Given the description of an element on the screen output the (x, y) to click on. 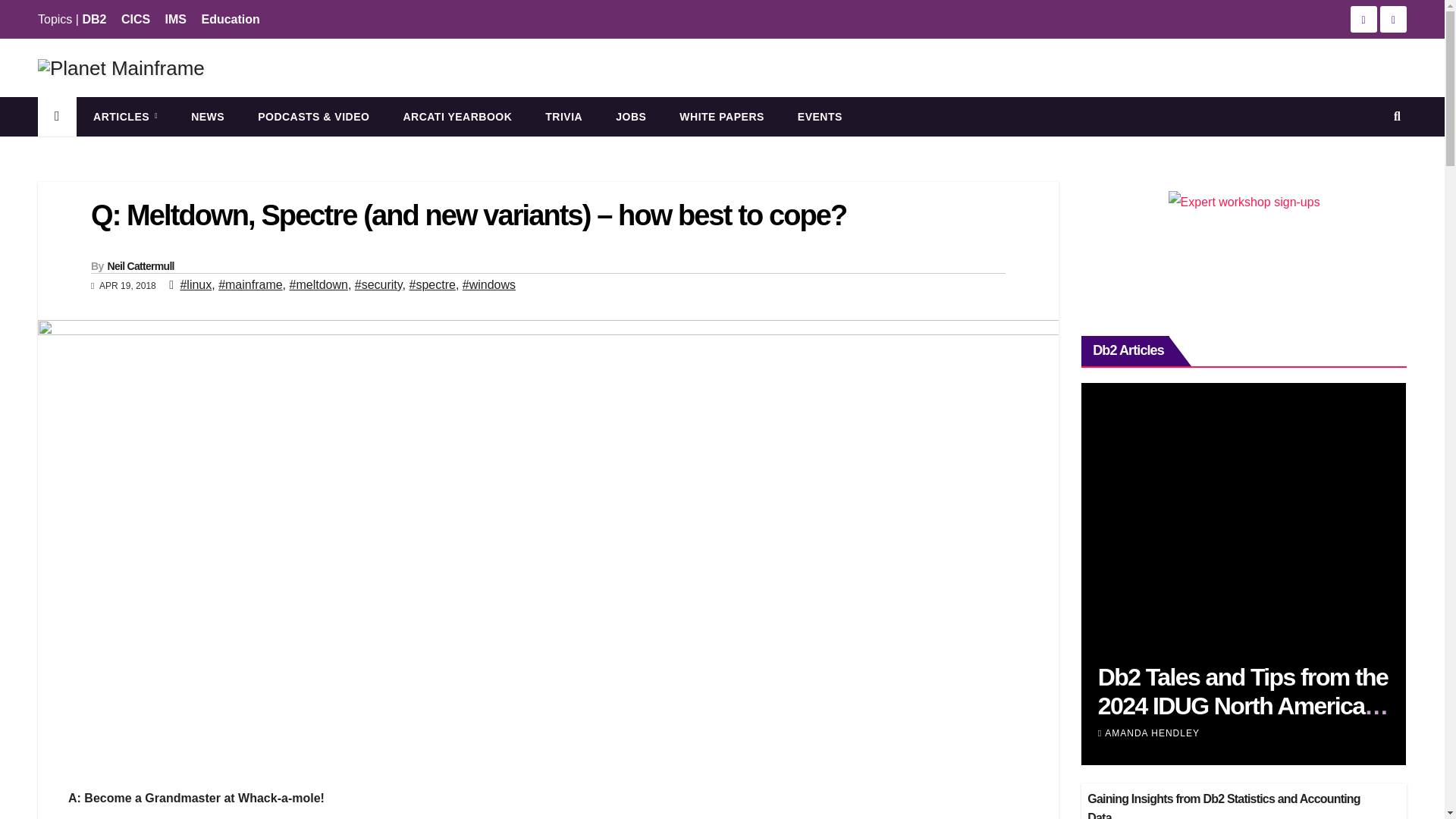
EVENTS (819, 116)
WHITE PAPERS (721, 116)
Jobs (630, 116)
Articles (125, 116)
Education (229, 19)
CICS (134, 19)
DB2 (93, 19)
News (207, 116)
Neil Cattermull (140, 265)
Arcati Yearbook (456, 116)
